Given the description of an element on the screen output the (x, y) to click on. 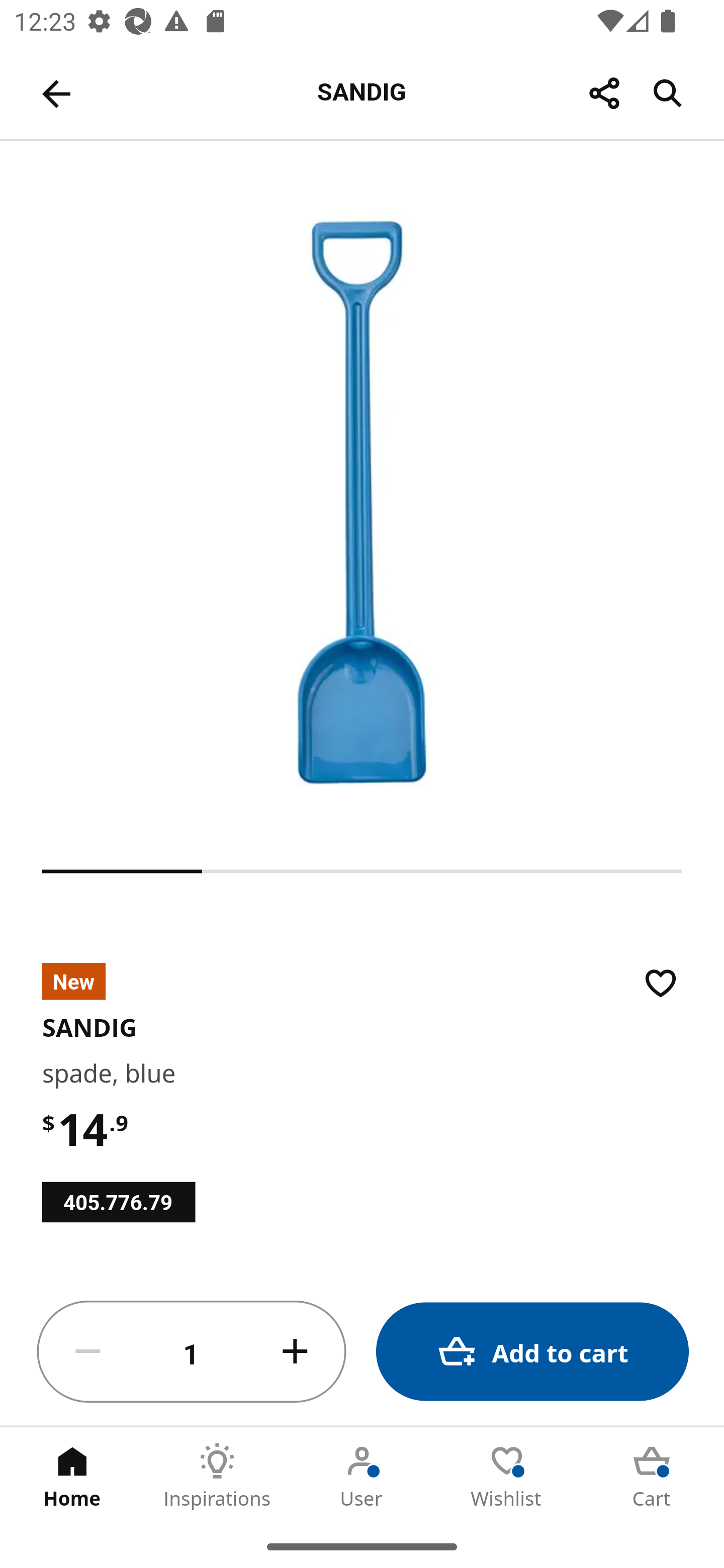
Add to cart (531, 1352)
1 (191, 1352)
Home
Tab 1 of 5 (72, 1476)
Inspirations
Tab 2 of 5 (216, 1476)
User
Tab 3 of 5 (361, 1476)
Wishlist
Tab 4 of 5 (506, 1476)
Cart
Tab 5 of 5 (651, 1476)
